Given the description of an element on the screen output the (x, y) to click on. 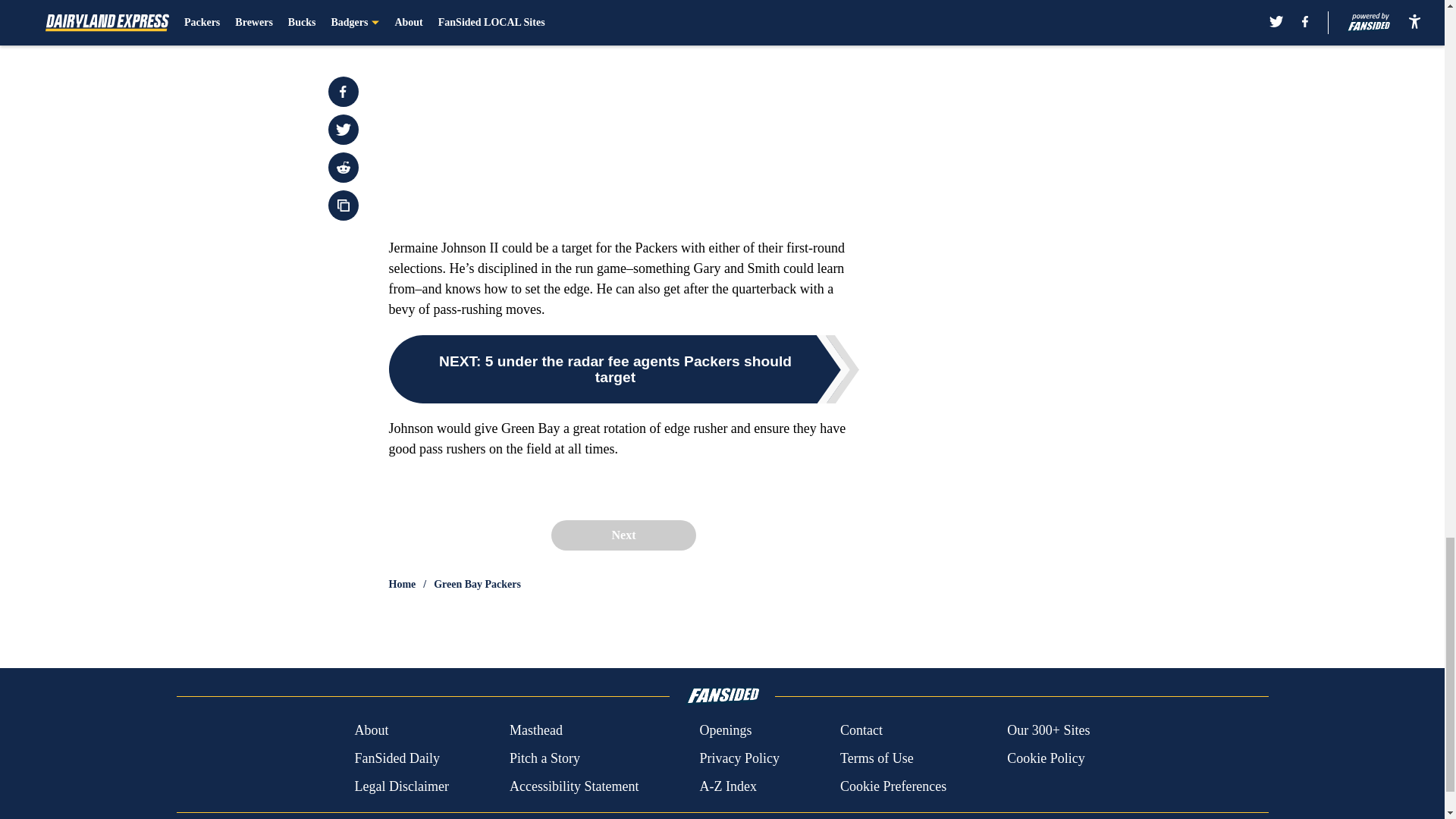
Green Bay Packers (477, 584)
Home (401, 584)
Pitch a Story (544, 758)
Openings (724, 730)
Next (622, 535)
Privacy Policy (738, 758)
Terms of Use (877, 758)
FanSided Daily (396, 758)
NEXT: 5 under the radar fee agents Packers should target (623, 368)
About (370, 730)
Contact (861, 730)
Masthead (535, 730)
